Given the description of an element on the screen output the (x, y) to click on. 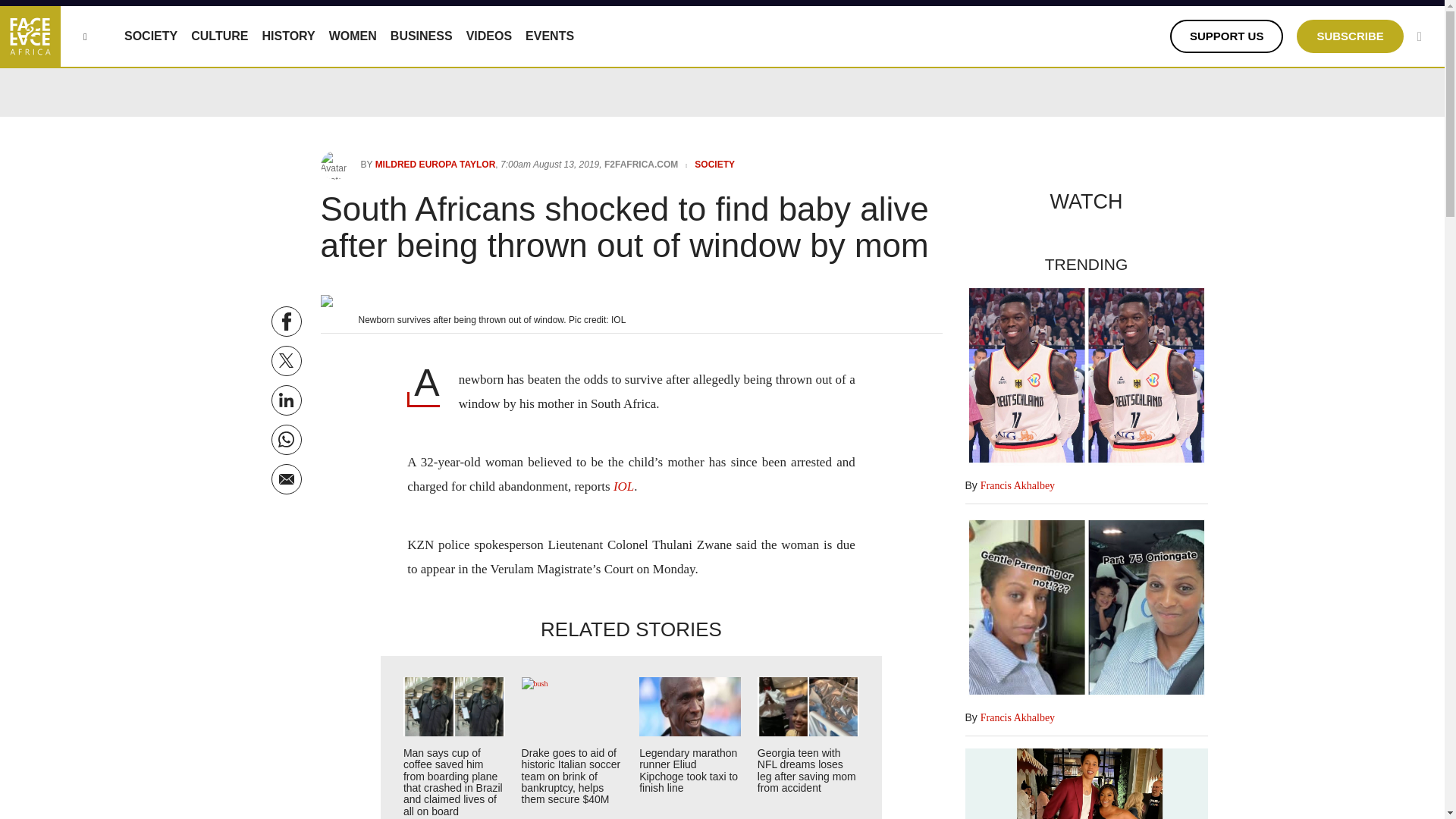
EVENTS (549, 35)
HISTORY (288, 35)
SUBSCRIBE (1350, 36)
SOCIETY (150, 35)
BUSINESS (421, 35)
CULTURE (218, 35)
VIDEOS (488, 35)
WOMEN (353, 35)
SUPPORT US (1227, 36)
